Given the description of an element on the screen output the (x, y) to click on. 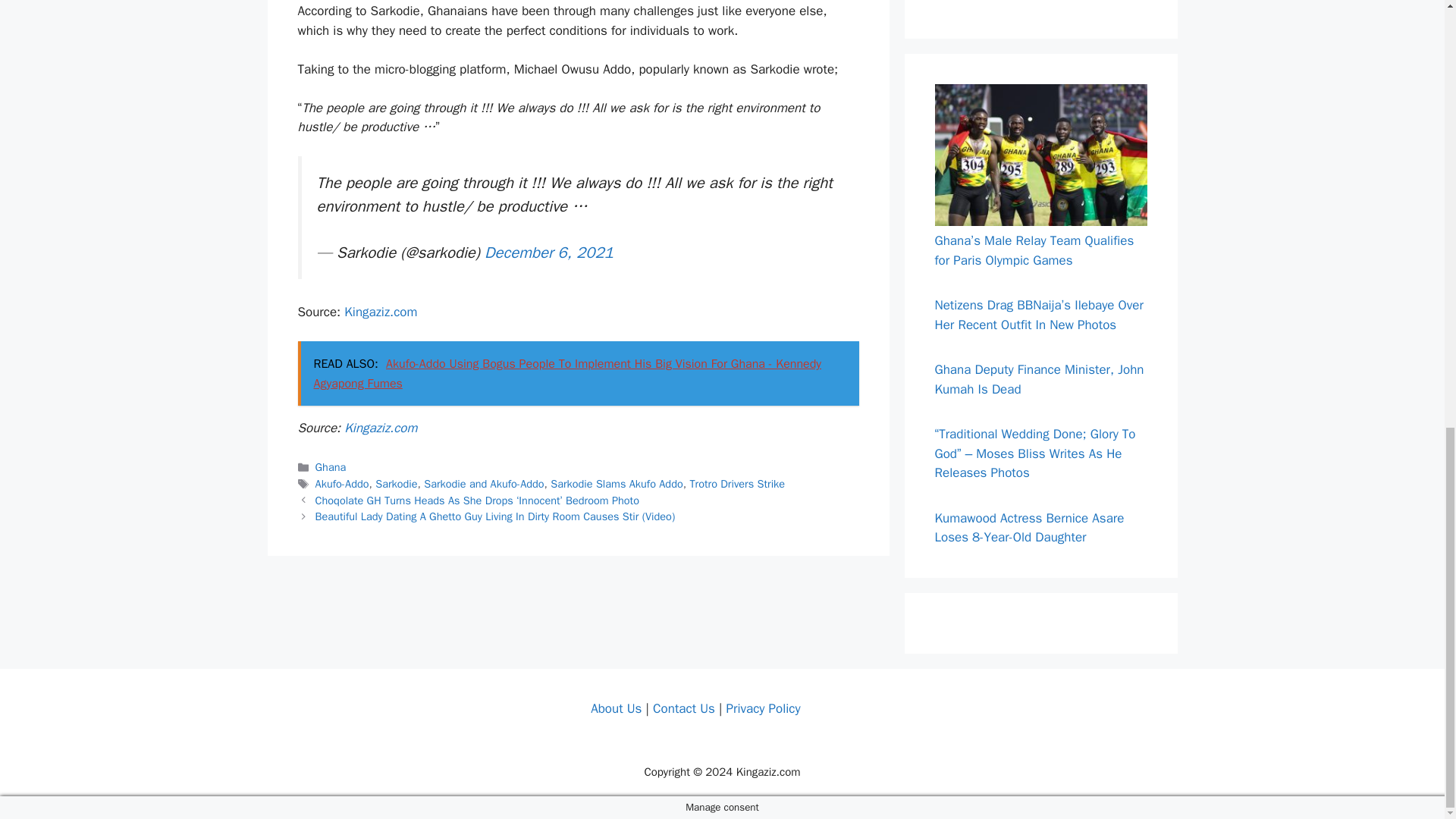
Ghana (330, 467)
Kingaziz.com (379, 427)
Ghana Deputy Finance Minister, John Kumah Is Dead (1038, 379)
Sarkodie (395, 483)
Privacy Policy (762, 708)
Sarkodie Slams Akufo Addo (616, 483)
Kumawood Actress Bernice Asare Loses 8-Year-Old Daughter (1029, 528)
Trotro Drivers Strike (736, 483)
Kingaziz.com (379, 311)
Sarkodie and Akufo-Addo (483, 483)
December 6, 2021 (548, 252)
Akufo-Addo (342, 483)
Contact Us (683, 708)
About Us (616, 708)
